Given the description of an element on the screen output the (x, y) to click on. 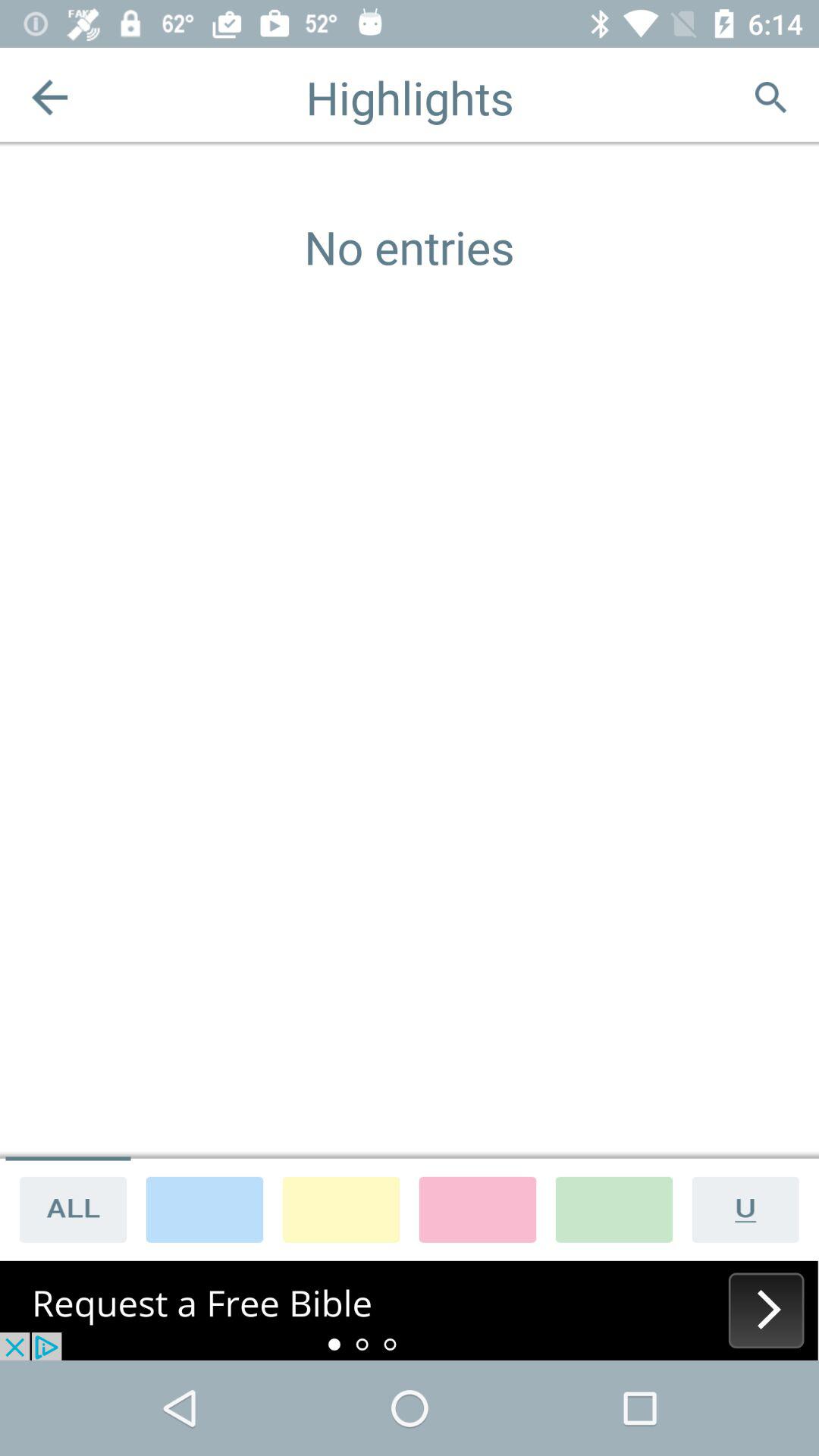
click to underline option (750, 1208)
